Given the description of an element on the screen output the (x, y) to click on. 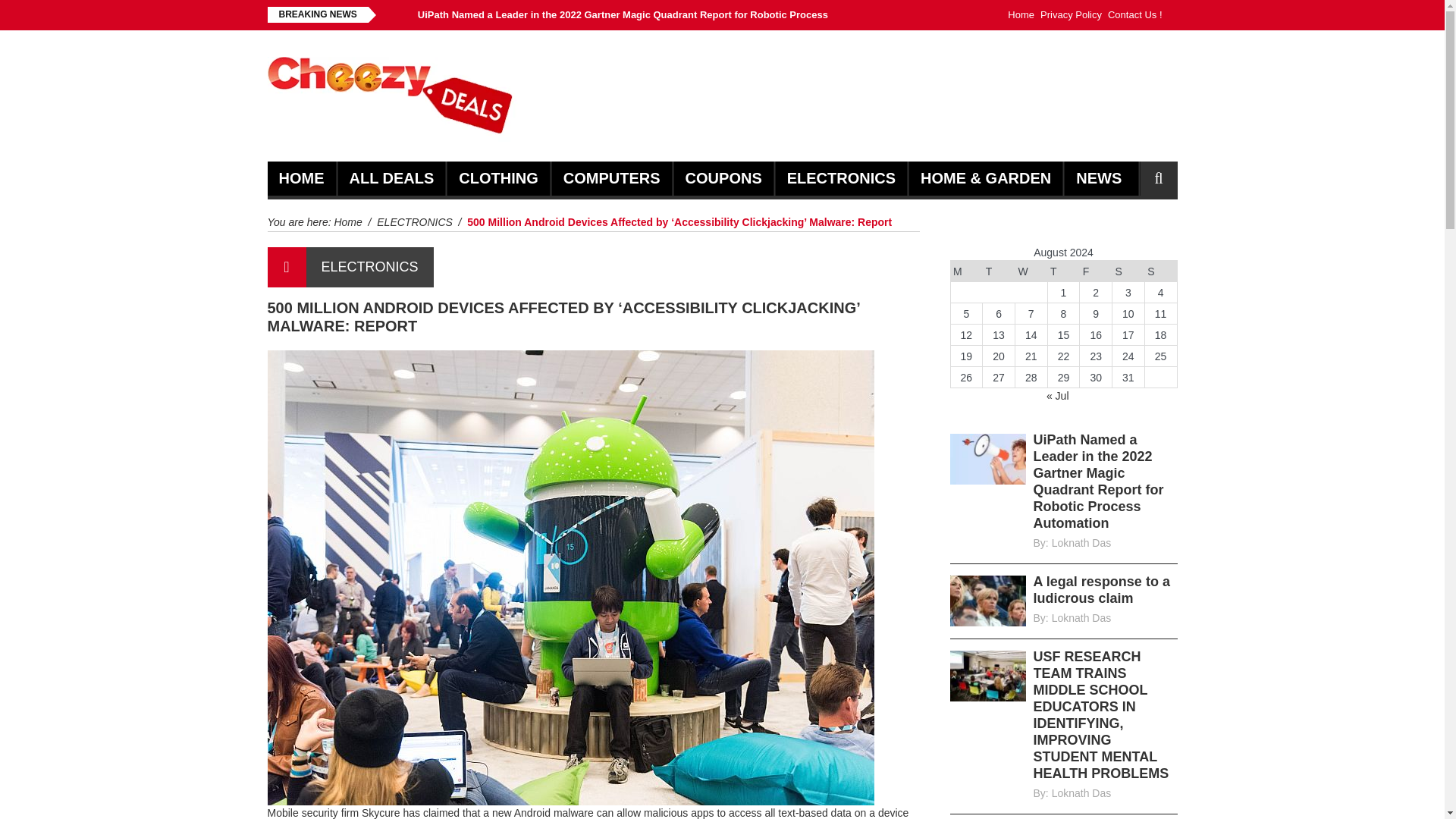
ELECTRONICS (841, 178)
ALL DEALS (391, 178)
COMPUTERS (612, 178)
Privacy Policy (1071, 15)
Monday (966, 271)
ELECTRONICS (414, 222)
ELECTRONICS (369, 267)
Saturday (1128, 271)
Wednesday (1030, 271)
